Given the description of an element on the screen output the (x, y) to click on. 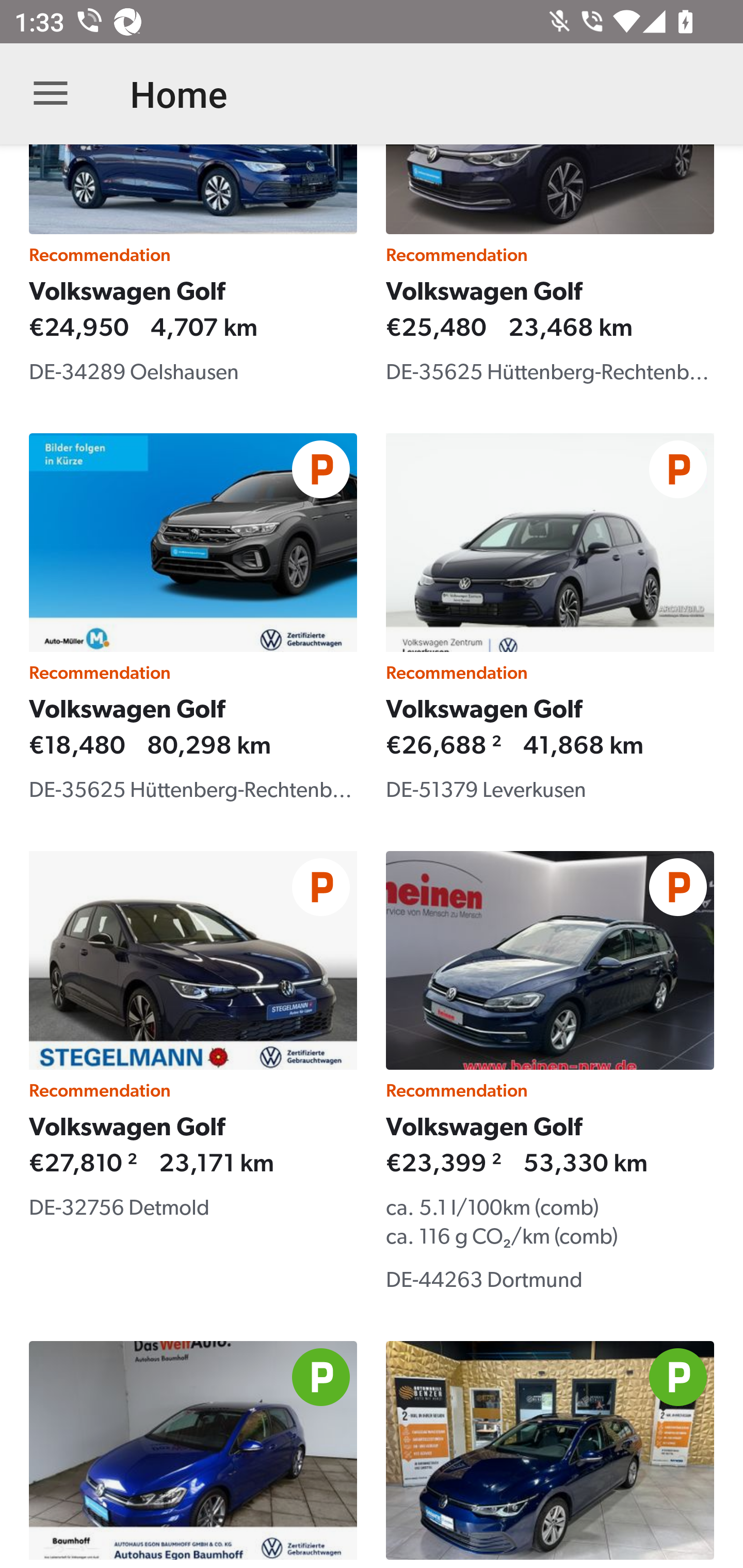
Open navigation bar (50, 93)
Recommendation (192, 1454)
Recommendation (549, 1454)
